Given the description of an element on the screen output the (x, y) to click on. 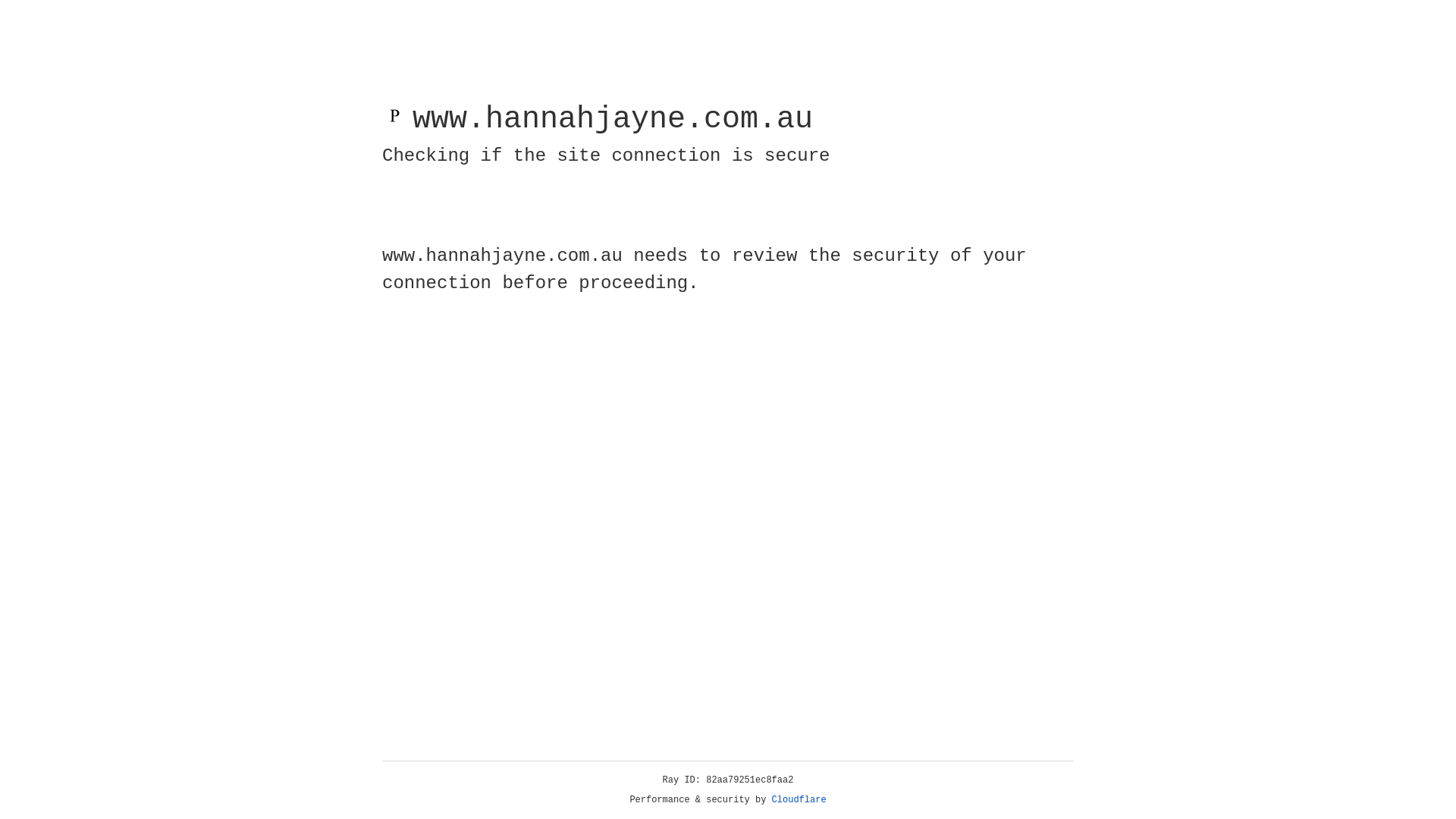
Cloudflare Element type: text (798, 799)
